Given the description of an element on the screen output the (x, y) to click on. 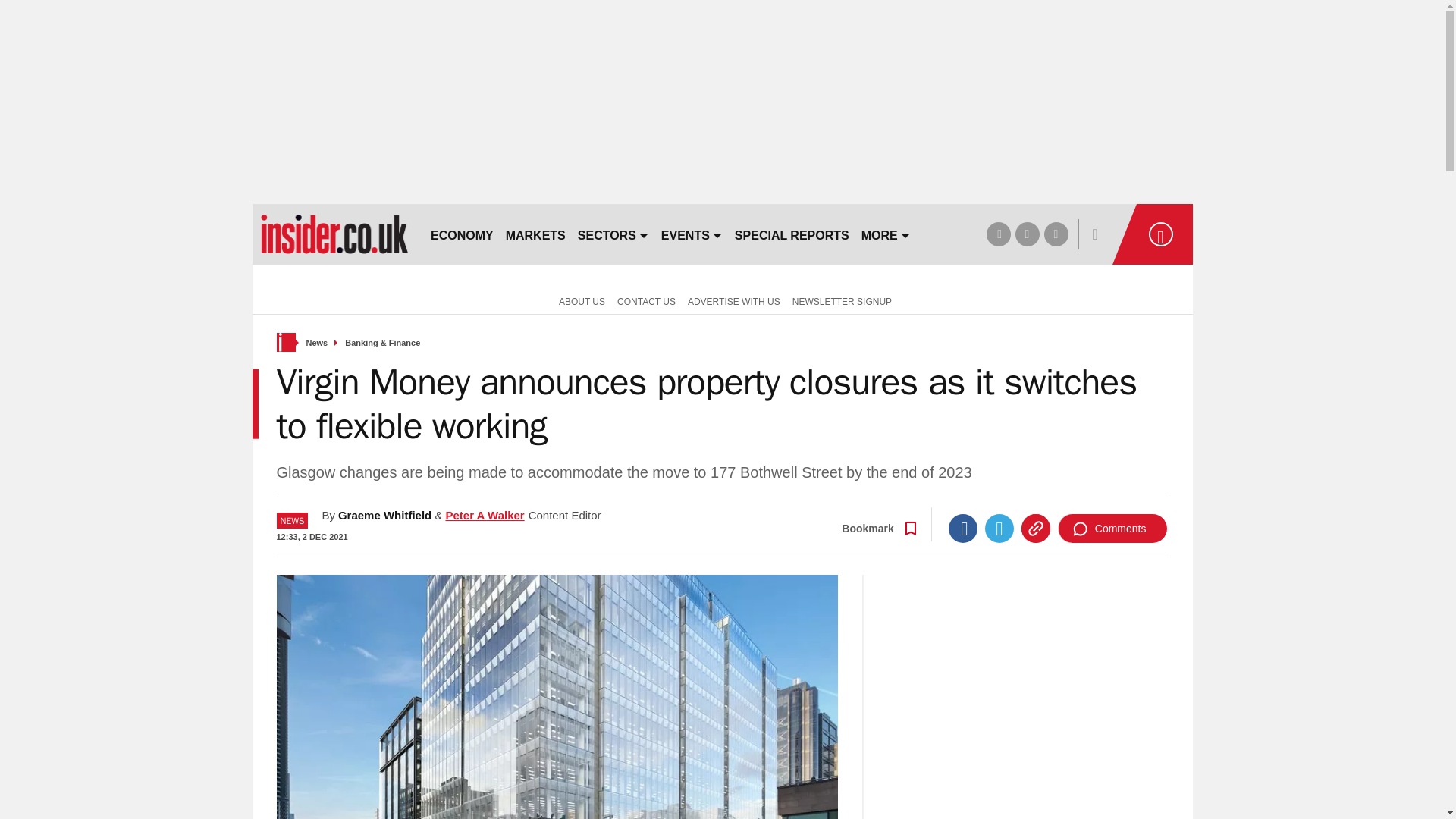
Home (285, 342)
Twitter (999, 528)
linkedin (1055, 233)
NEWSLETTER SIGNUP (842, 300)
MORE (886, 233)
News (317, 343)
twitter (1026, 233)
ADVERTISE WITH US (733, 300)
Facebook (962, 528)
facebook (997, 233)
SPECIAL REPORTS (792, 233)
businessInsider (333, 233)
MARKETS (535, 233)
CONTACT US (646, 300)
SECTORS (613, 233)
